Given the description of an element on the screen output the (x, y) to click on. 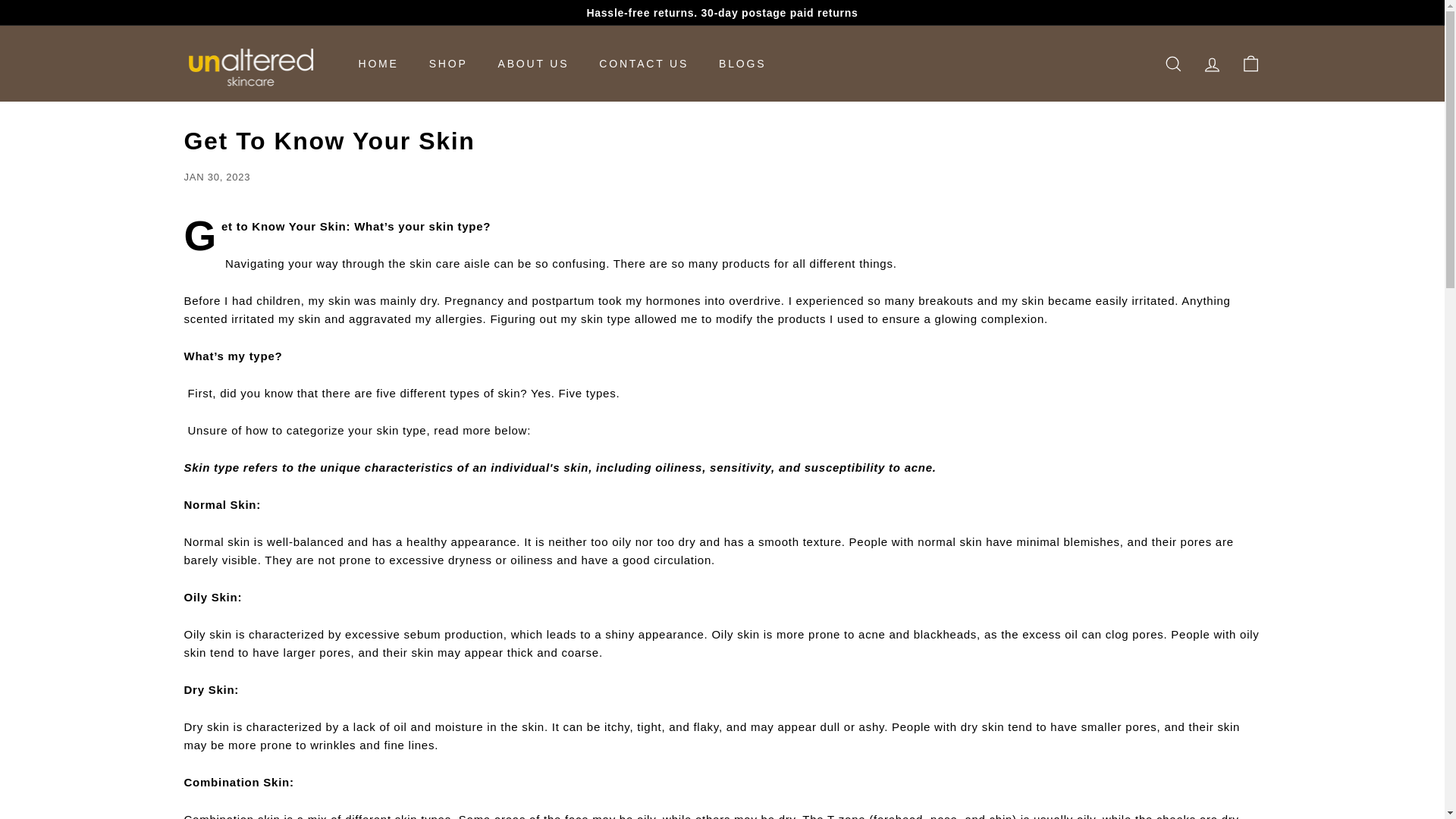
ACCOUNT (1211, 63)
HOME (377, 63)
SHOP (448, 63)
ABOUT US (534, 63)
BLOGS (741, 63)
CONTACT US (643, 63)
SEARCH (1173, 63)
